Given the description of an element on the screen output the (x, y) to click on. 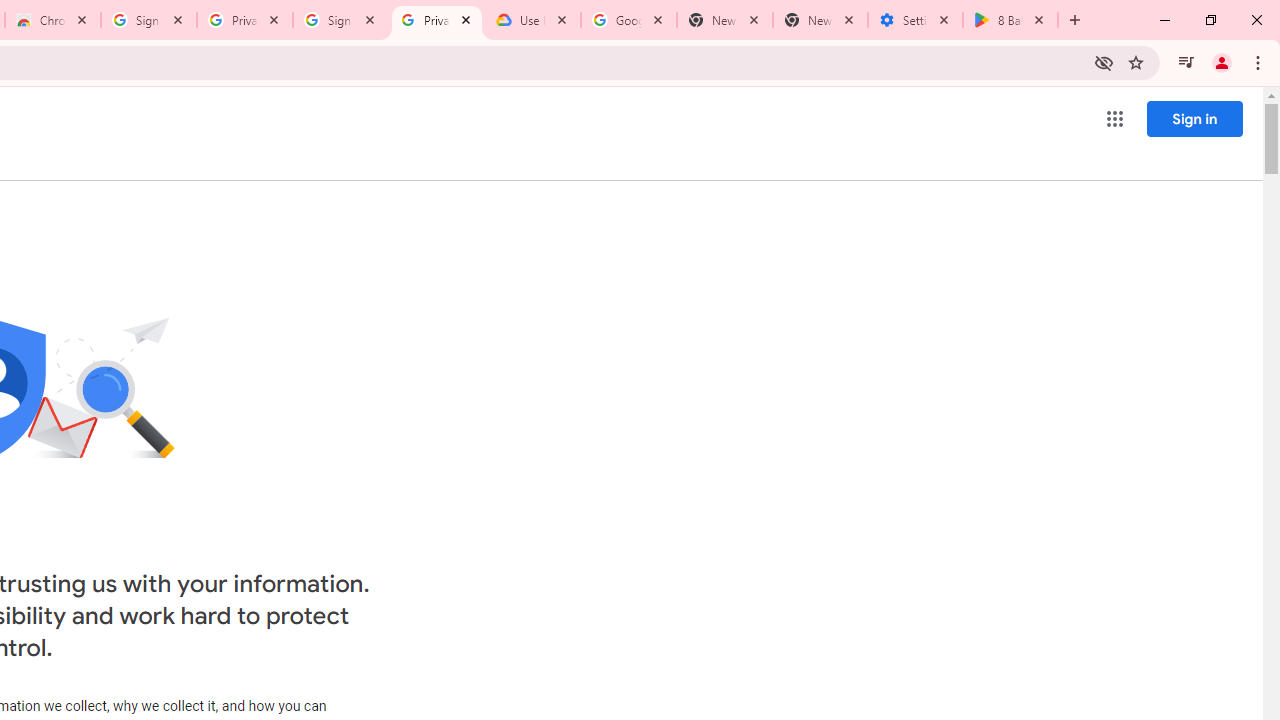
New Tab (820, 20)
Sign in - Google Accounts (341, 20)
Sign in - Google Accounts (149, 20)
Settings - System (914, 20)
